Given the description of an element on the screen output the (x, y) to click on. 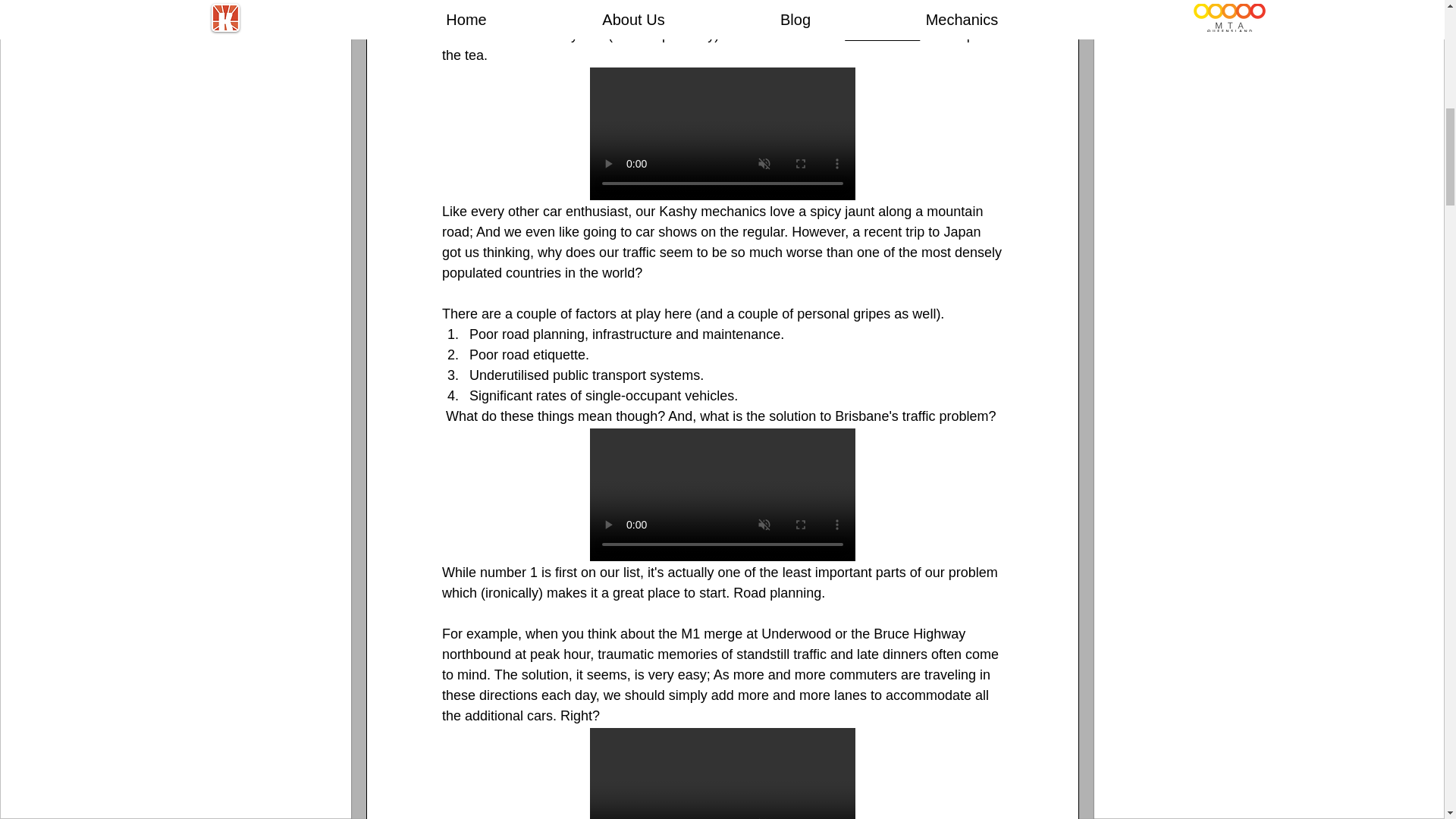
environment (882, 34)
